Given the description of an element on the screen output the (x, y) to click on. 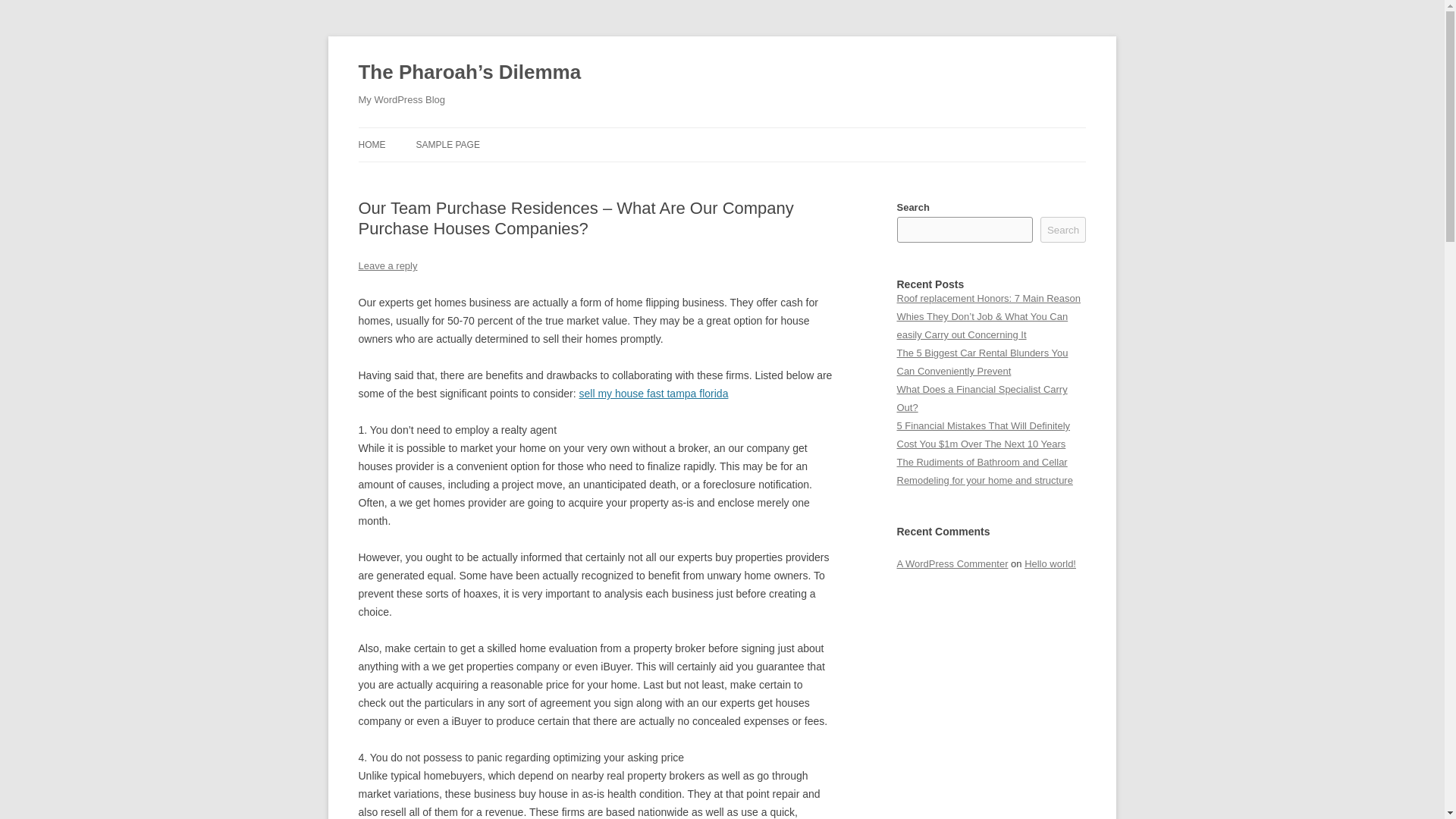
Leave a reply (387, 265)
What Does a Financial Specialist Carry Out? (981, 398)
Search (1063, 229)
Hello world! (1050, 563)
sell my house fast tampa florida (654, 393)
SAMPLE PAGE (446, 144)
A WordPress Commenter (951, 563)
